Given the description of an element on the screen output the (x, y) to click on. 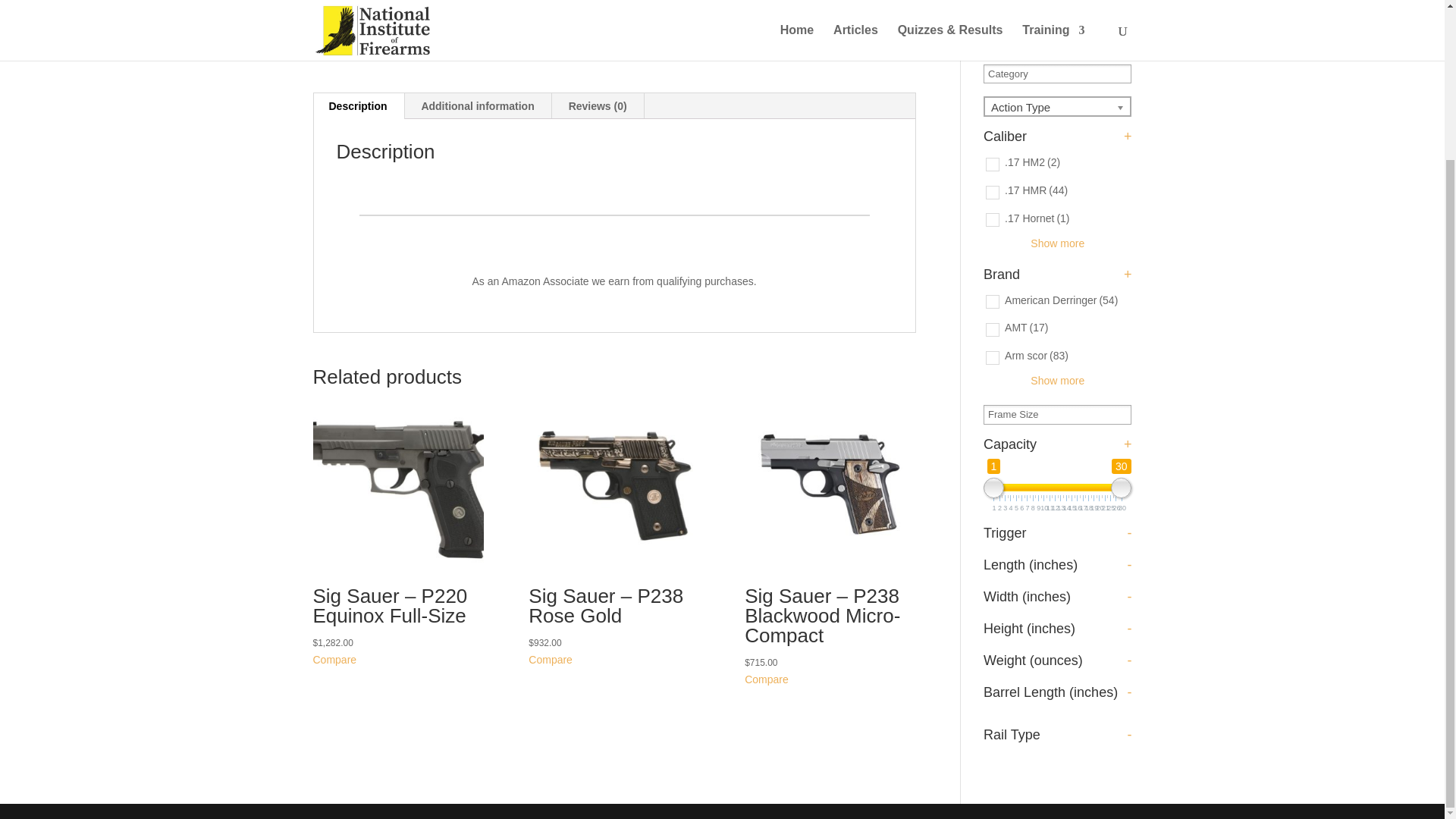
Browning-Buck Mark Hunter (457, 30)
Frame Size (1018, 413)
Compare (647, 15)
Additional information (477, 105)
Firearm (700, 39)
Pistol (738, 39)
Compare (334, 659)
Description (358, 105)
Category (1013, 73)
